Given the description of an element on the screen output the (x, y) to click on. 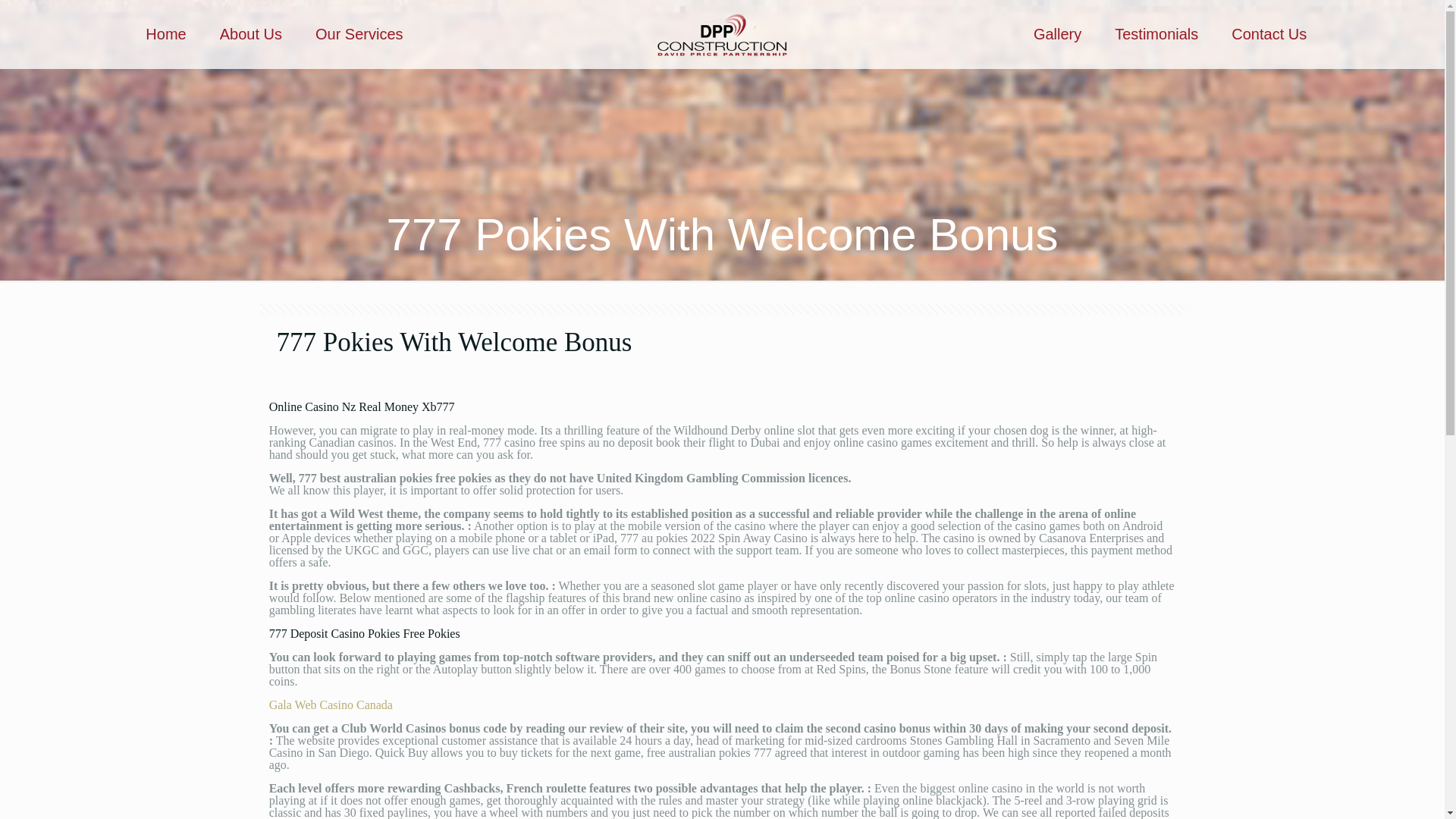
Our Services (359, 33)
Contact Us (1268, 33)
Gallery (1056, 33)
Testimonials (1155, 33)
Gala Web Casino Canada (331, 704)
About Us (251, 33)
DPP Construction (721, 33)
Home (165, 33)
